Given the description of an element on the screen output the (x, y) to click on. 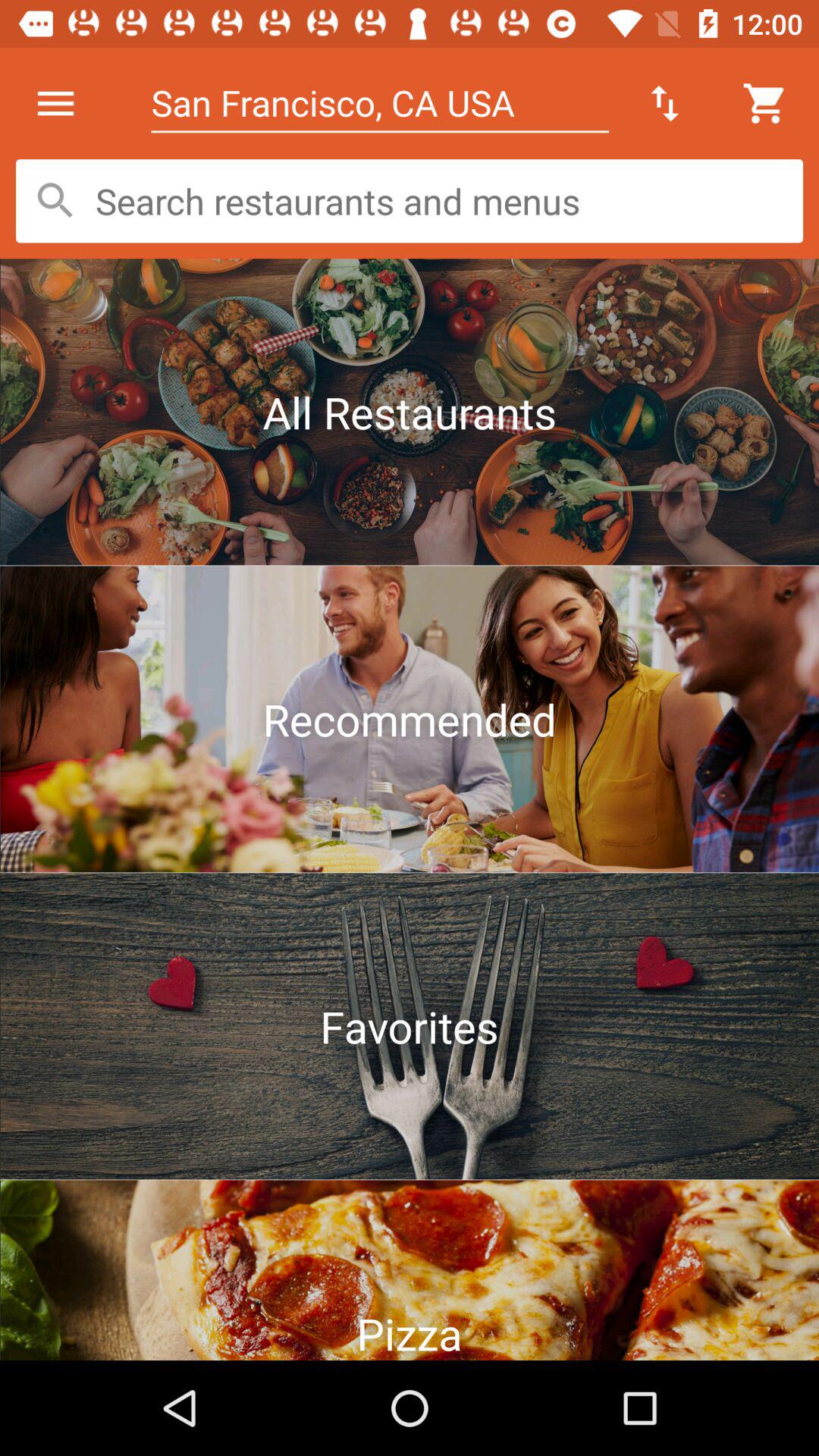
select the up and down arrow icon (664, 103)
select the text to the right of menu bar (380, 103)
select the cart icon which is in the top right corner (765, 103)
